Given the description of an element on the screen output the (x, y) to click on. 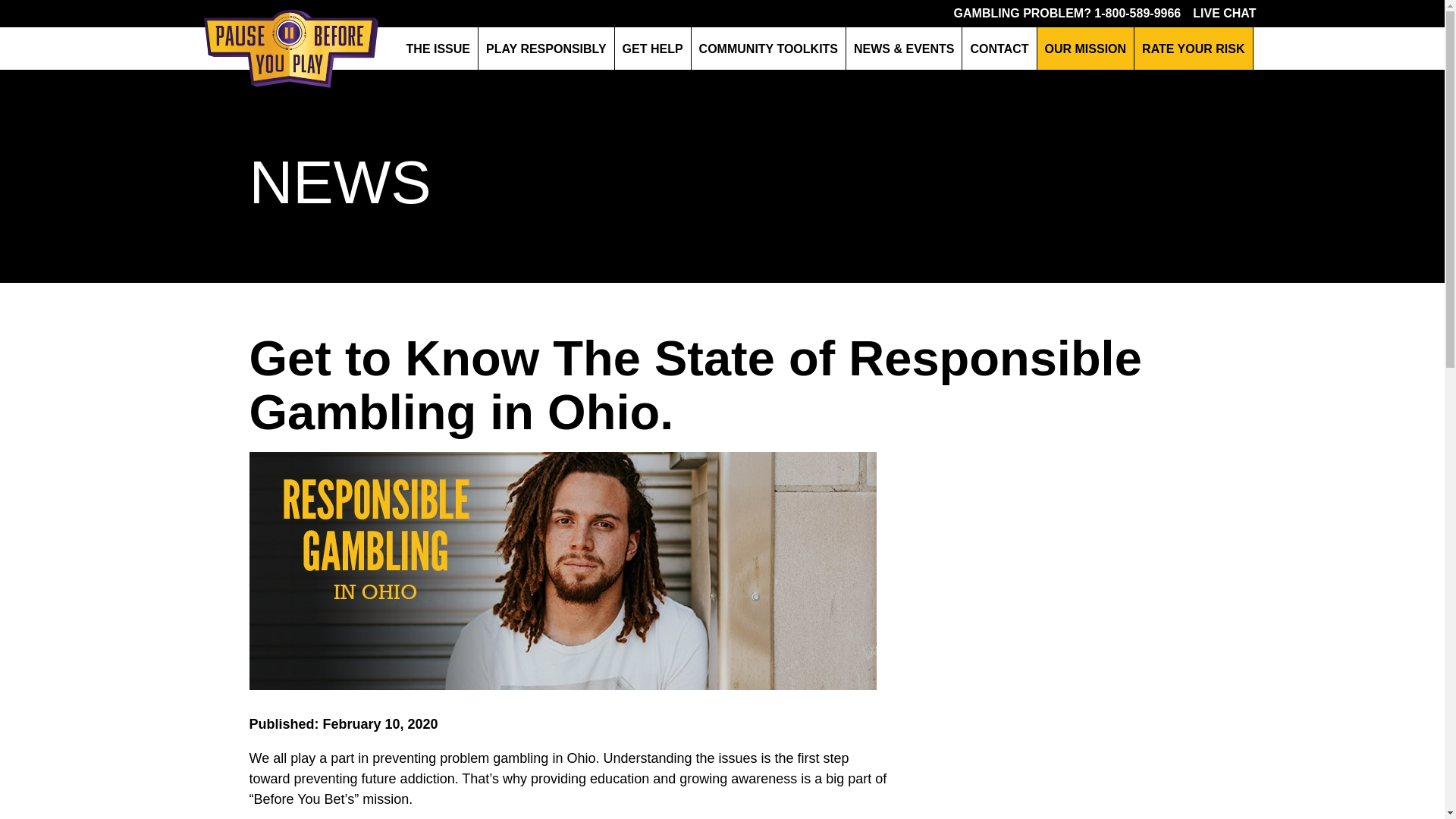
1-800-589-9966 (1137, 12)
THE ISSUE (437, 48)
LIVE CHAT (1223, 12)
COMMUNITY TOOLKITS (768, 48)
RATE YOUR RISK (1193, 48)
PLAY RESPONSIBLY (546, 48)
Pause Before You Play (290, 48)
OUR MISSION (1085, 48)
GET HELP (652, 48)
CONTACT (998, 48)
